Given the description of an element on the screen output the (x, y) to click on. 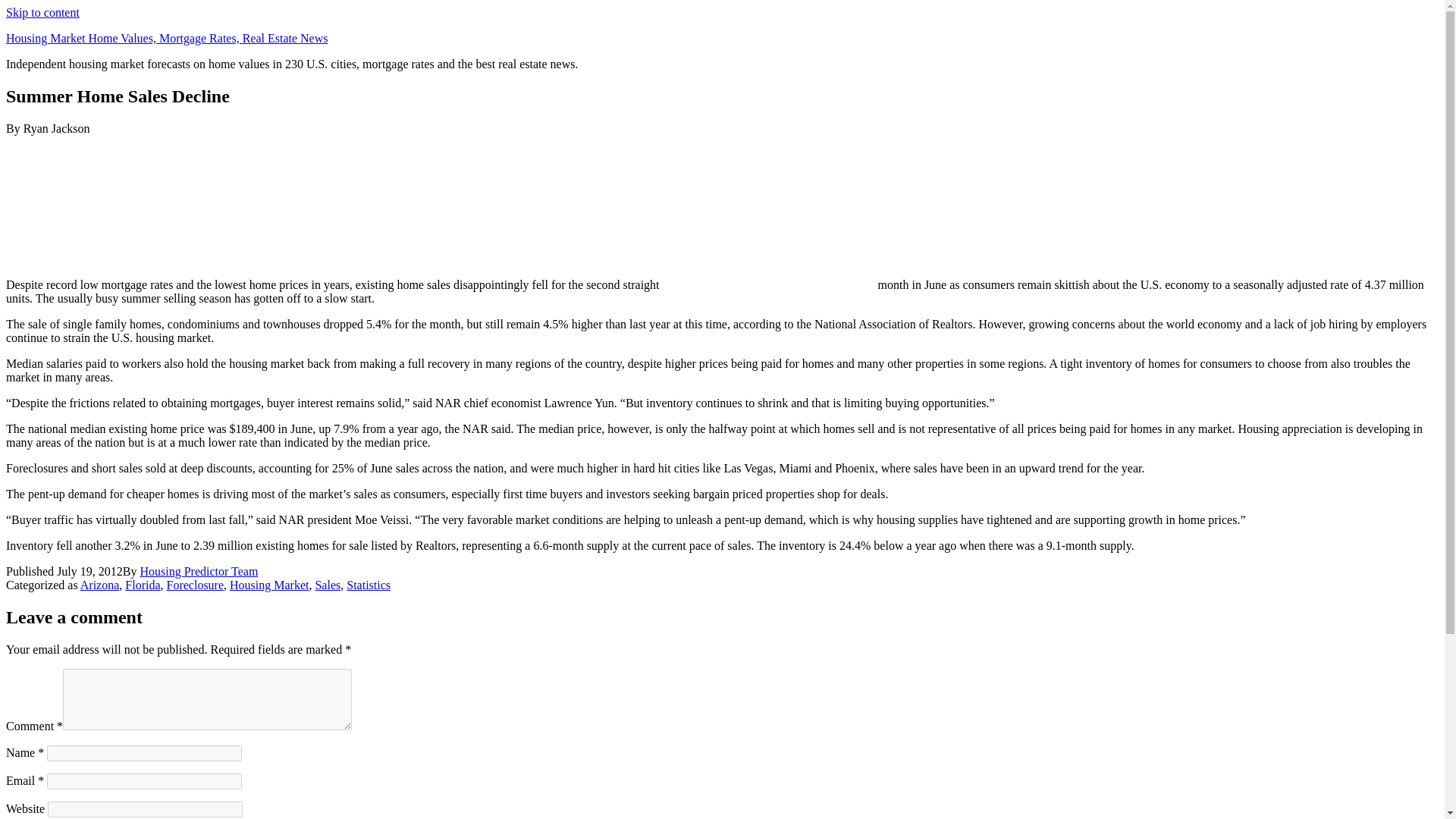
Foreclosure (195, 584)
Housing Market (269, 584)
Housing Market Home Values, Mortgage Rates, Real Estate News (167, 38)
Florida (142, 584)
Sales (327, 584)
Skip to content (42, 11)
Arizona (99, 584)
Housing Predictor Team (198, 571)
Statistics (368, 584)
